Given the description of an element on the screen output the (x, y) to click on. 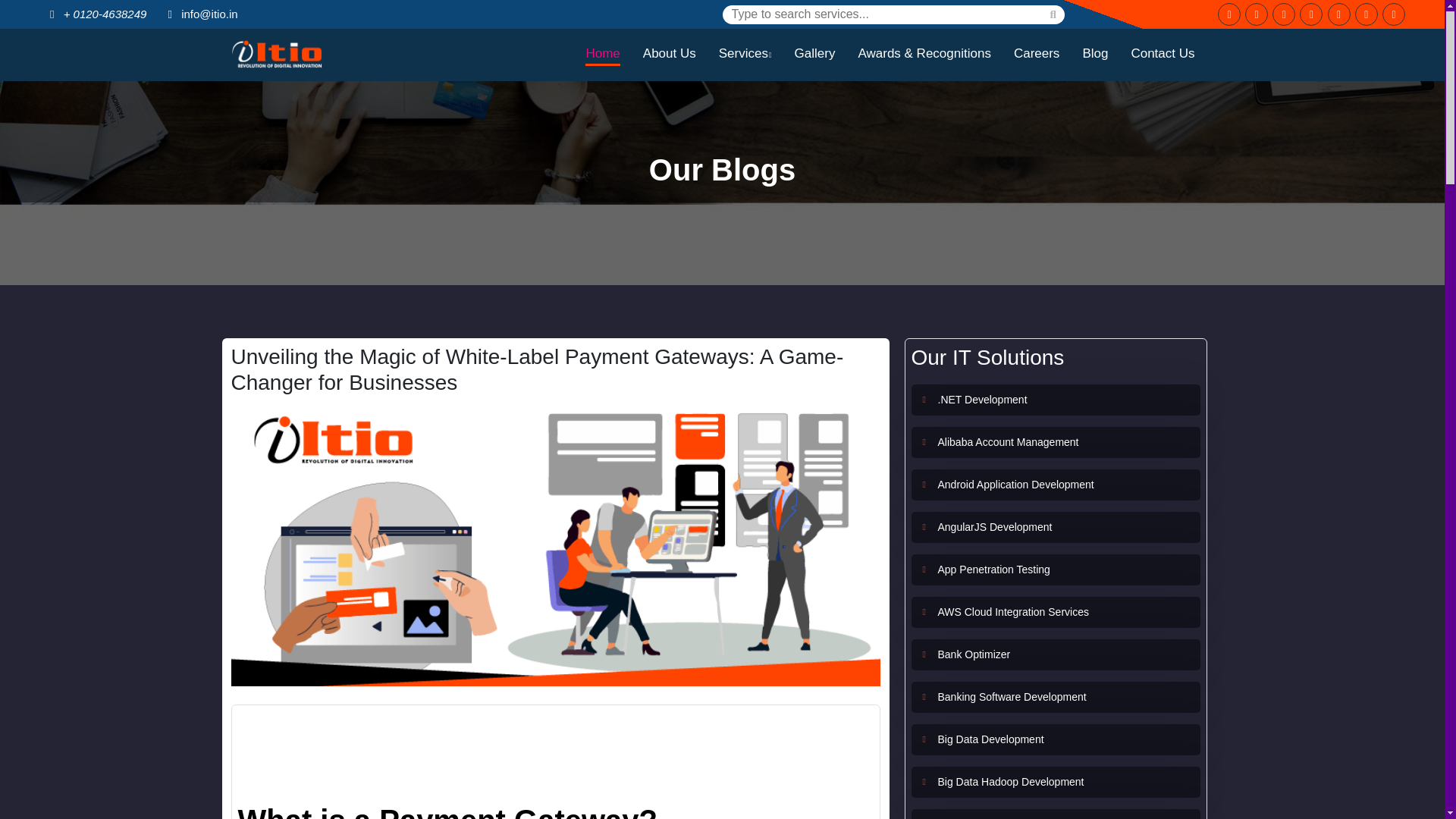
About Us (669, 55)
Contact Us (1162, 55)
How to reach (1366, 14)
Blog (1094, 55)
Gallery (814, 55)
.NET Development (981, 399)
Call us Now (95, 13)
Home (602, 55)
Services (745, 55)
Careers (1036, 55)
